Given the description of an element on the screen output the (x, y) to click on. 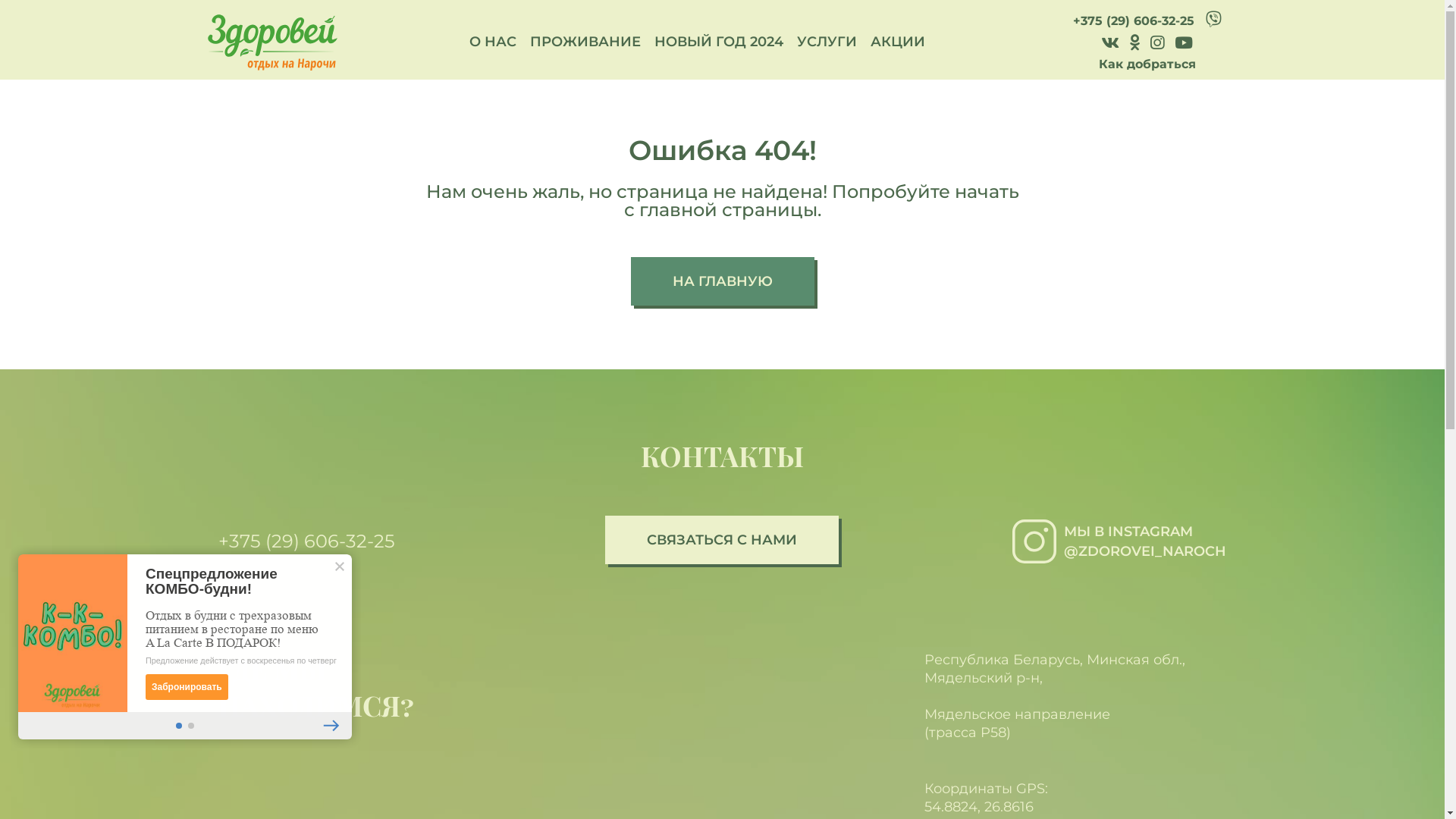
+375 (29) 606-32-25 Element type: text (1132, 20)
+375 (29) 606-32-25 Element type: text (384, 540)
